Given the description of an element on the screen output the (x, y) to click on. 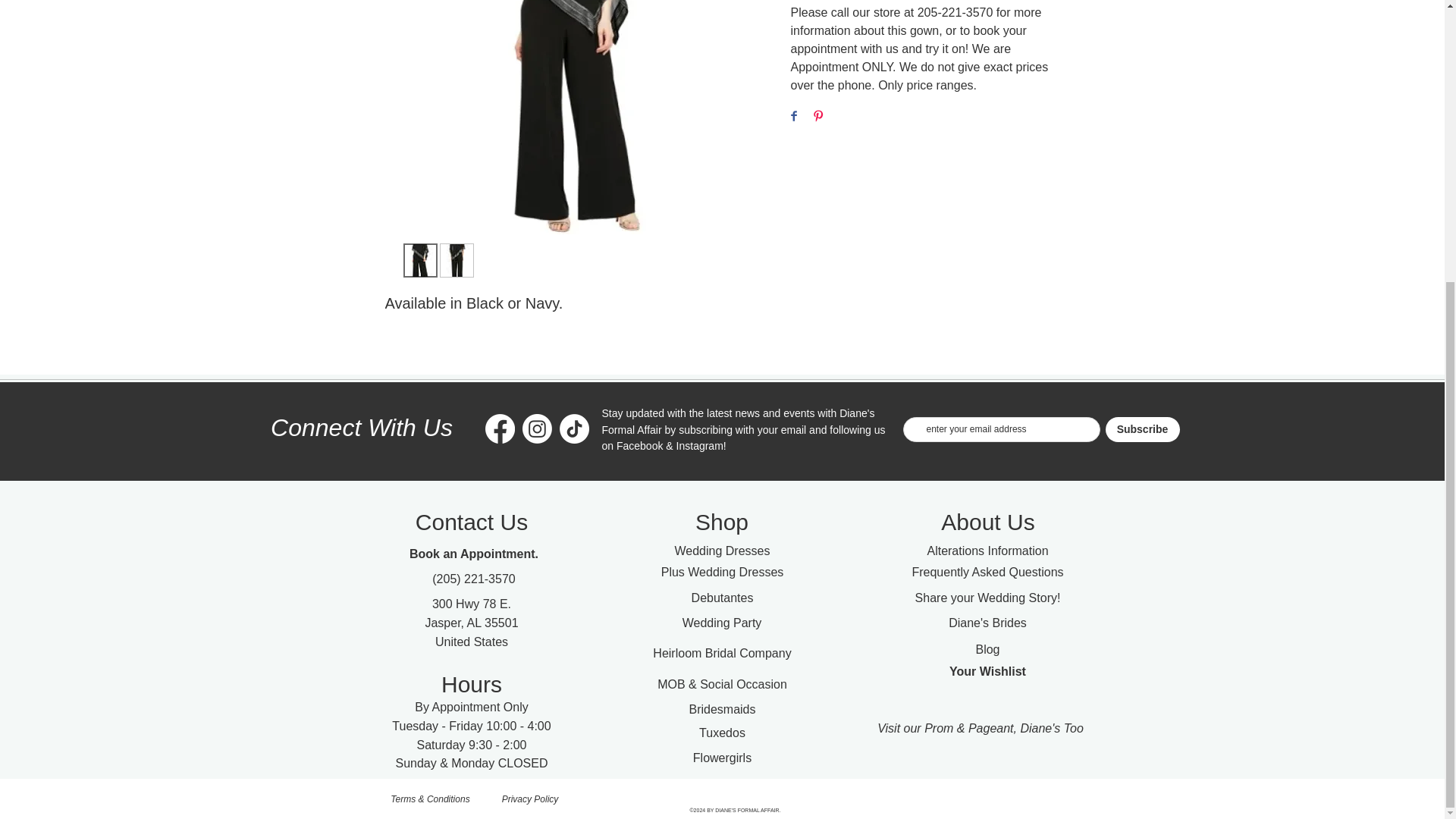
Book an Appointment. (473, 553)
Wedding Dresses (722, 550)
Subscribe (1142, 429)
Contact Us (470, 521)
Plus Wedding Dresses (722, 571)
